Given the description of an element on the screen output the (x, y) to click on. 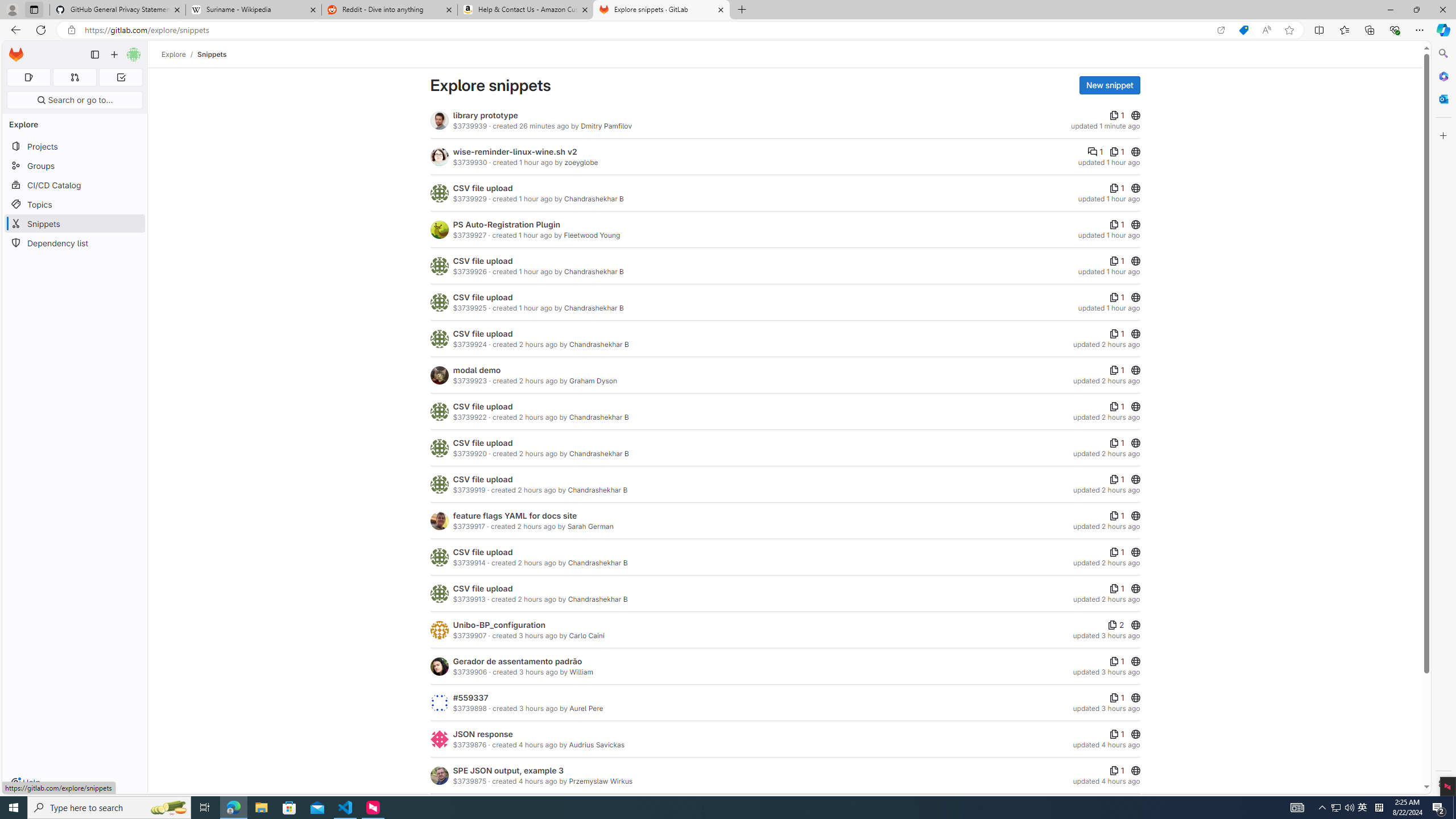
Primary navigation sidebar (94, 54)
Groups (74, 165)
Aurel Pere (585, 708)
JSON response (482, 733)
Dependency list (74, 242)
Reddit - Dive into anything (390, 9)
Merge requests 0 (74, 76)
Przemyslaw Wirkus (601, 781)
